Given the description of an element on the screen output the (x, y) to click on. 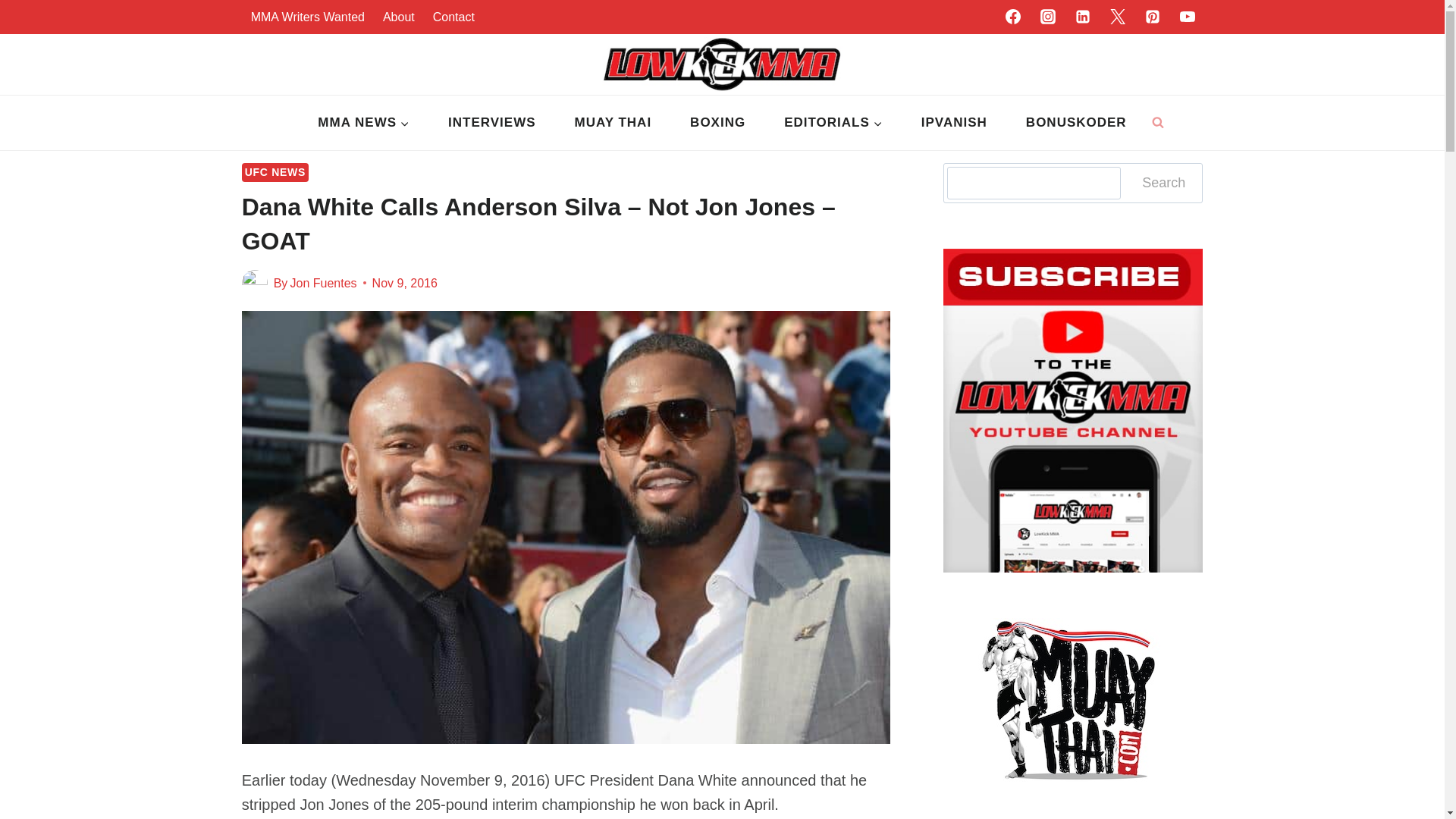
MMA Writers Wanted (307, 17)
About (398, 17)
IPVANISH (953, 122)
BONUSKODER (1075, 122)
MUAY THAI (612, 122)
MMA NEWS (363, 122)
Contact (453, 17)
BOXING (718, 122)
INTERVIEWS (491, 122)
EDITORIALS (833, 122)
